Given the description of an element on the screen output the (x, y) to click on. 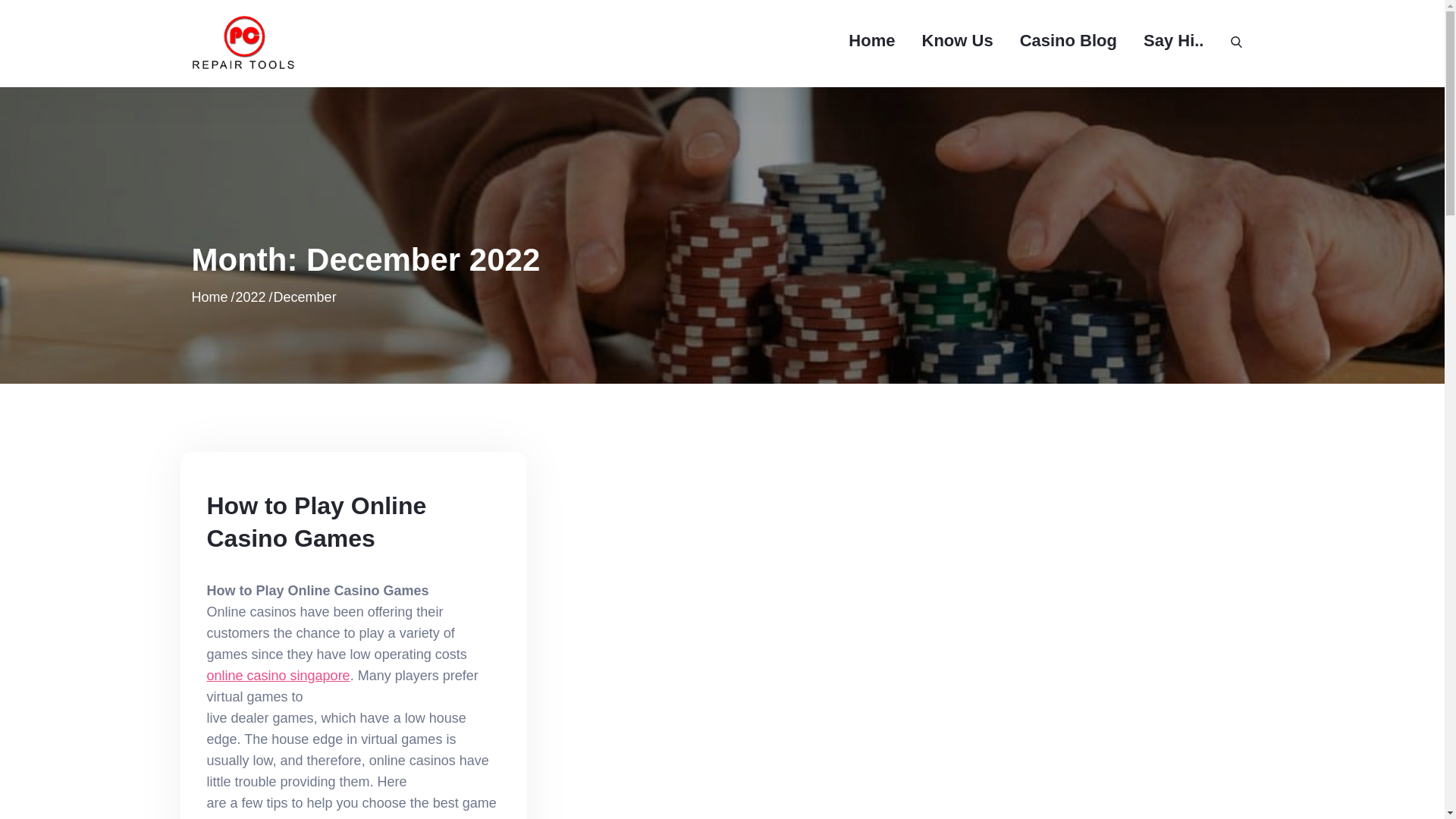
Know Us (956, 40)
Casino Blog (1068, 40)
online casino singapore (277, 675)
How to Play Online Casino Games (316, 522)
Say Hi.. (1173, 40)
Home (208, 296)
2022 (250, 296)
PC Repair Tools (404, 58)
Home (871, 40)
